Given the description of an element on the screen output the (x, y) to click on. 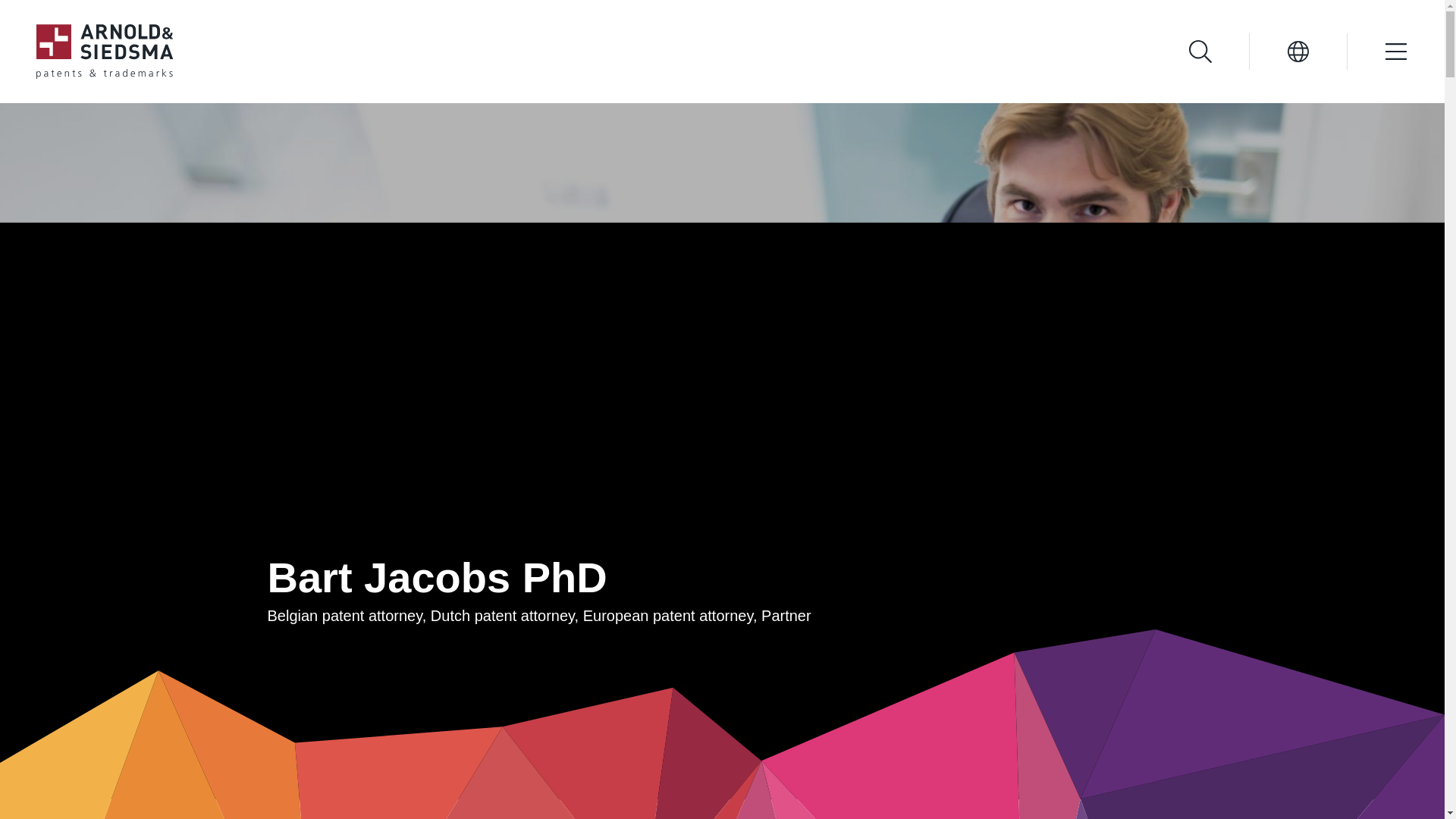
To menu (1377, 51)
Change language (1298, 51)
To search (1200, 51)
